Given the description of an element on the screen output the (x, y) to click on. 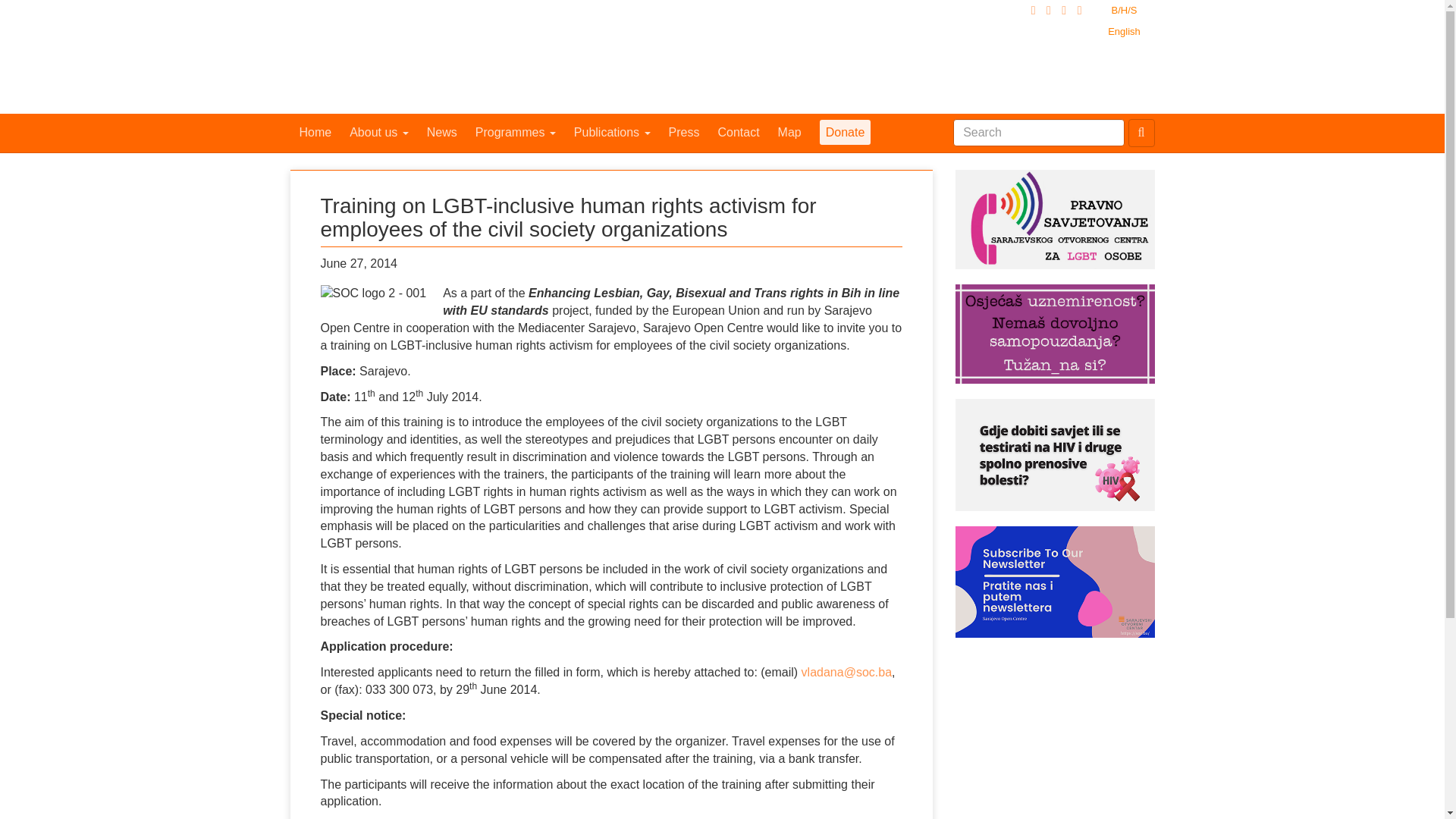
About us (378, 132)
Home (314, 132)
Sarajevski Otvoreni Centar (418, 56)
English (1123, 31)
News (441, 132)
Programmes (514, 132)
